Given the description of an element on the screen output the (x, y) to click on. 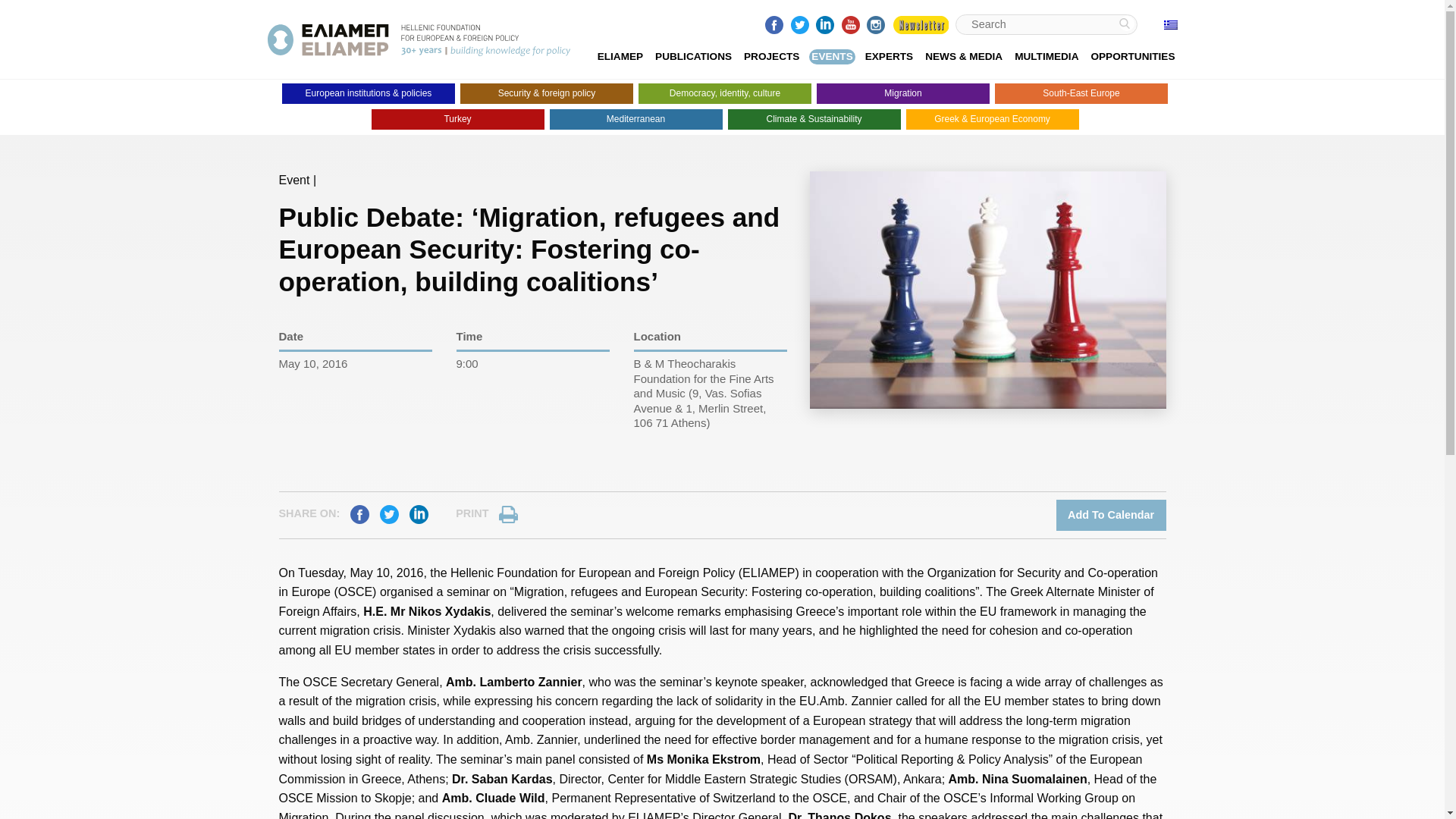
EVENTS (830, 56)
Turkey (457, 118)
OPPORTUNITIES (1132, 56)
Migration (903, 93)
South-East Europe (1080, 93)
MULTIMEDIA (1046, 56)
EXPERTS (888, 56)
Democracy, identity, culture (724, 93)
Mediterranean (635, 118)
PUBLICATIONS (693, 56)
PROJECTS (771, 56)
ELIAMEP (619, 56)
